Given the description of an element on the screen output the (x, y) to click on. 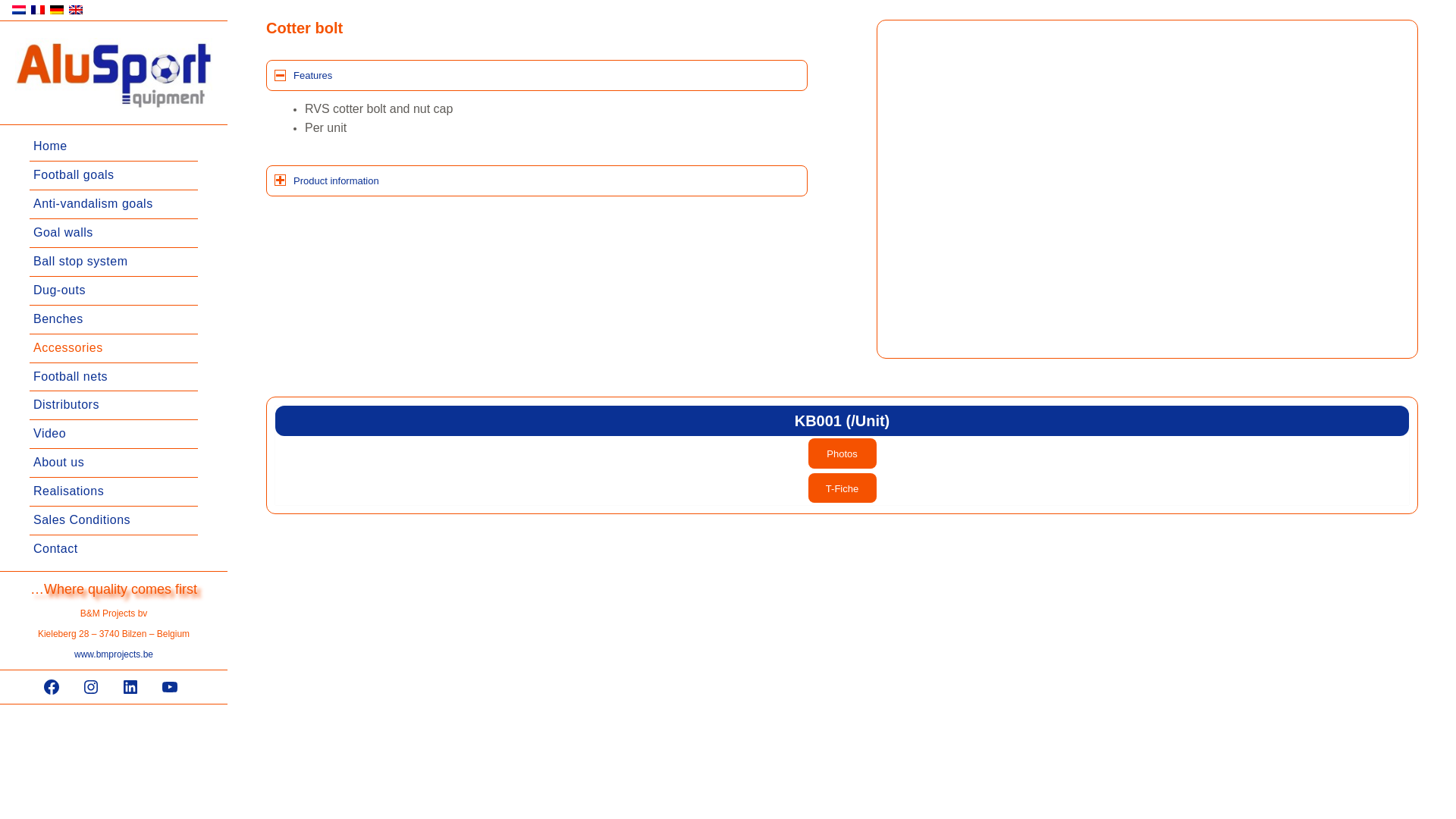
Video Element type: text (113, 434)
Contact Element type: text (113, 549)
English Element type: hover (75, 9)
T-Fiche Element type: text (842, 488)
Goal walls Element type: text (113, 233)
Anti-vandalism goals Element type: text (113, 204)
Benches Element type: text (113, 319)
Accessories Element type: text (113, 348)
About us Element type: text (113, 462)
Dug-outs Element type: text (113, 290)
Home Element type: text (113, 146)
www.bmprojects.be Element type: text (113, 654)
Realisations Element type: text (113, 491)
Sales Conditions Element type: text (113, 520)
Football goals Element type: text (113, 175)
Photos Element type: text (842, 453)
Deutsch Element type: hover (56, 9)
Nederlands Element type: hover (18, 9)
Football nets Element type: text (113, 377)
Ball stop system Element type: text (113, 261)
Distributors Element type: text (113, 405)
